Given the description of an element on the screen output the (x, y) to click on. 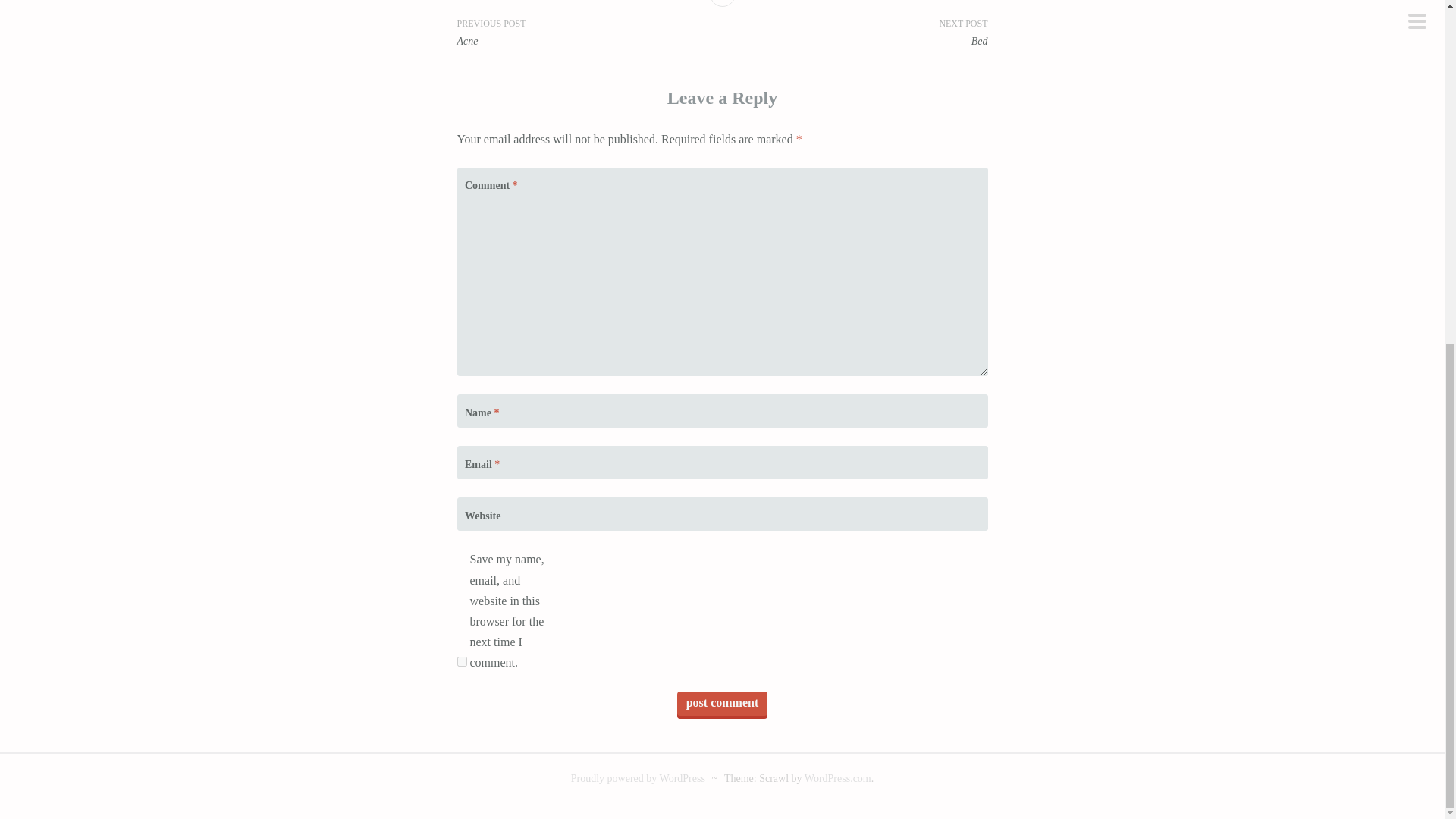
Proudly powered by WordPress (637, 778)
Post Comment (722, 703)
0 (722, 3)
PREVIOUS POSTAcne (589, 31)
Post Comment (722, 703)
yes (461, 661)
WordPress.com (837, 778)
NEXT POSTBed (854, 31)
